Given the description of an element on the screen output the (x, y) to click on. 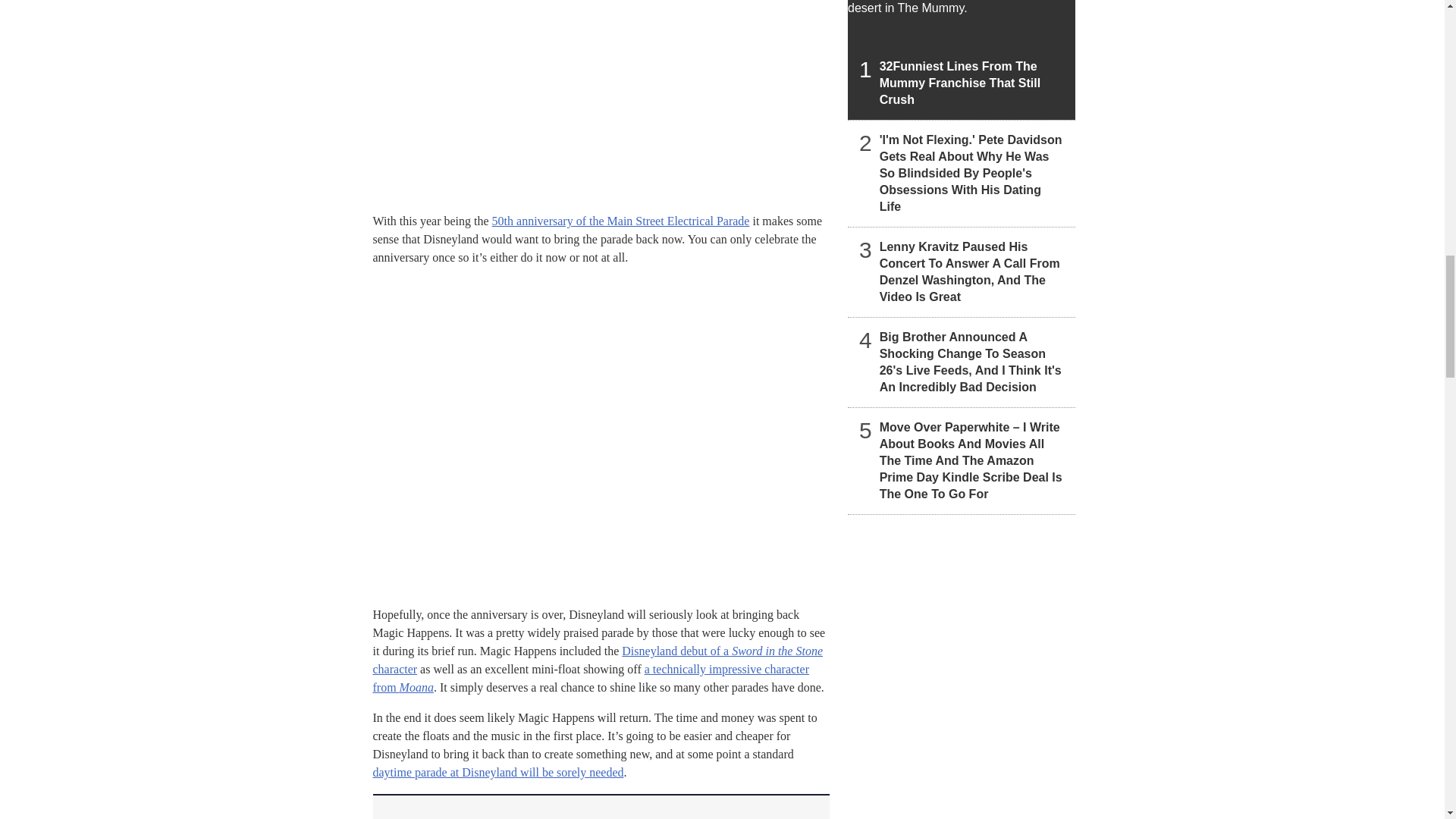
32Funniest Lines From The Mummy Franchise That Still Crush (961, 59)
